Given the description of an element on the screen output the (x, y) to click on. 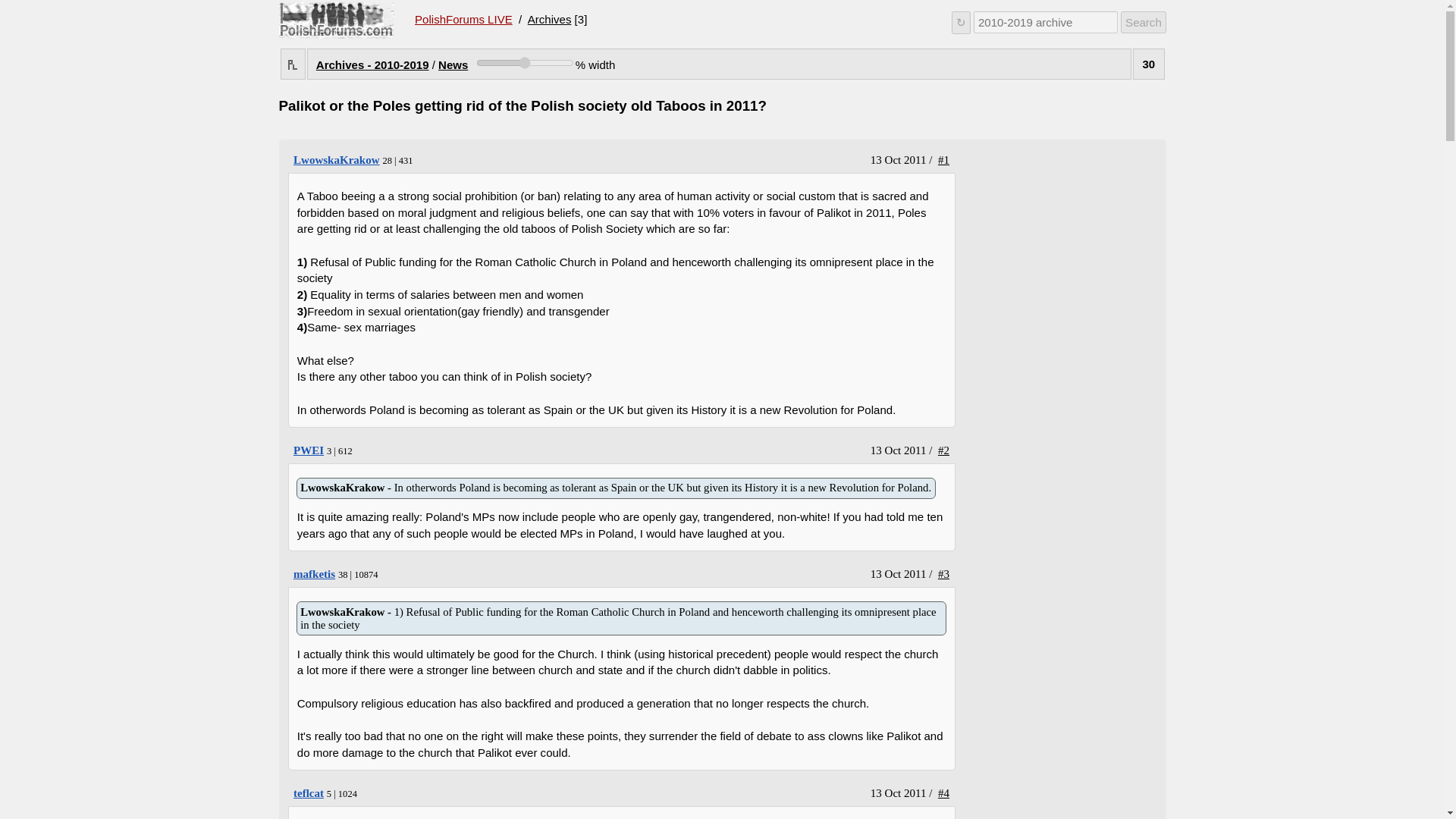
PolishForums LIVE (463, 19)
LwowskaKrakow (308, 793)
PWEI (337, 159)
Archives - 2010-2019 (308, 450)
teflcat (314, 573)
News (337, 159)
